Given the description of an element on the screen output the (x, y) to click on. 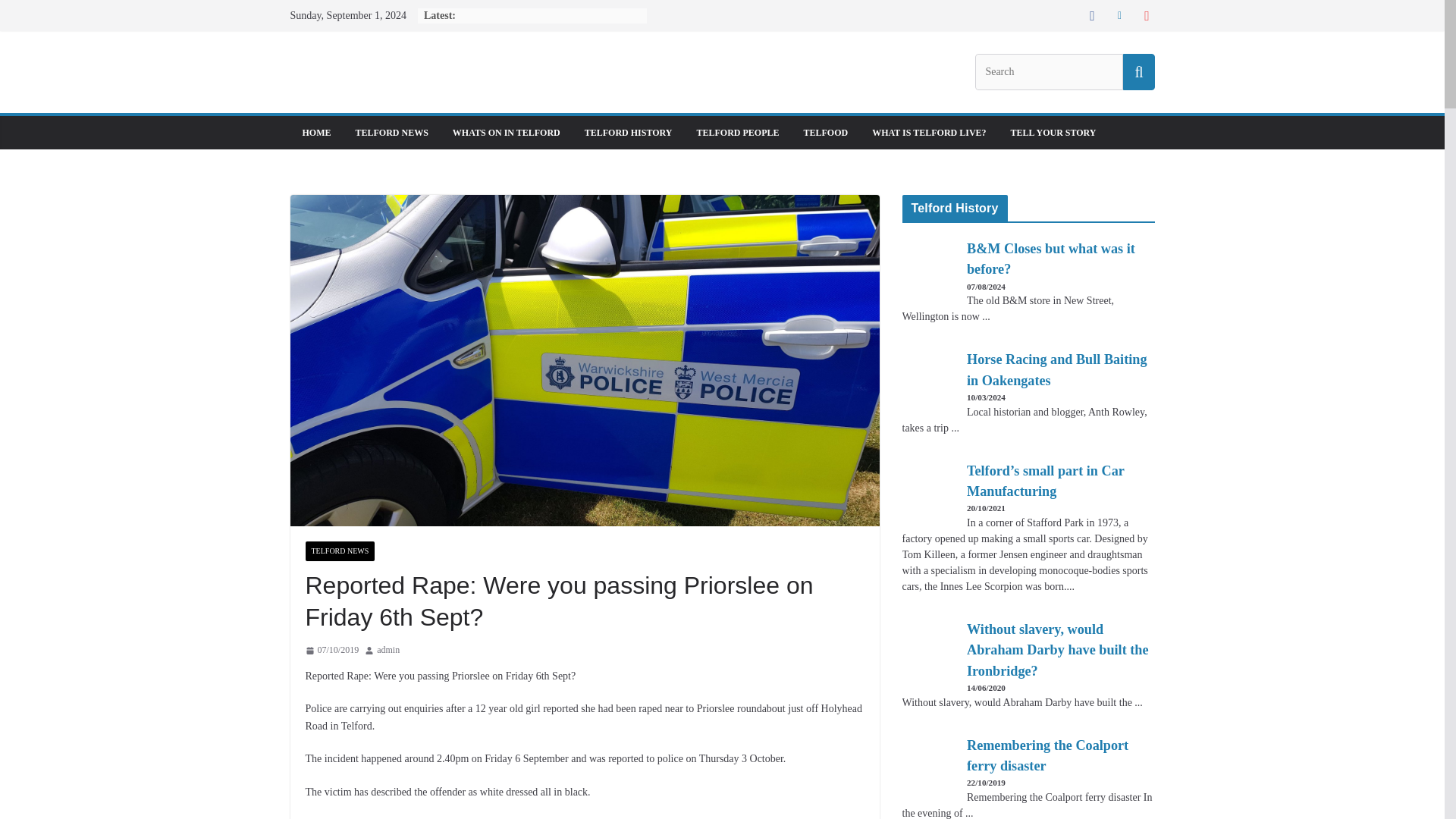
WHATS ON IN TELFORD (506, 132)
5:27 pm (331, 650)
WHAT IS TELFORD LIVE? (928, 132)
TELFORD NEWS (339, 551)
TELL YOUR STORY (1053, 132)
TELFORD HISTORY (628, 132)
TELFORD NEWS (391, 132)
admin (387, 650)
TELFORD PEOPLE (736, 132)
admin (387, 650)
